Given the description of an element on the screen output the (x, y) to click on. 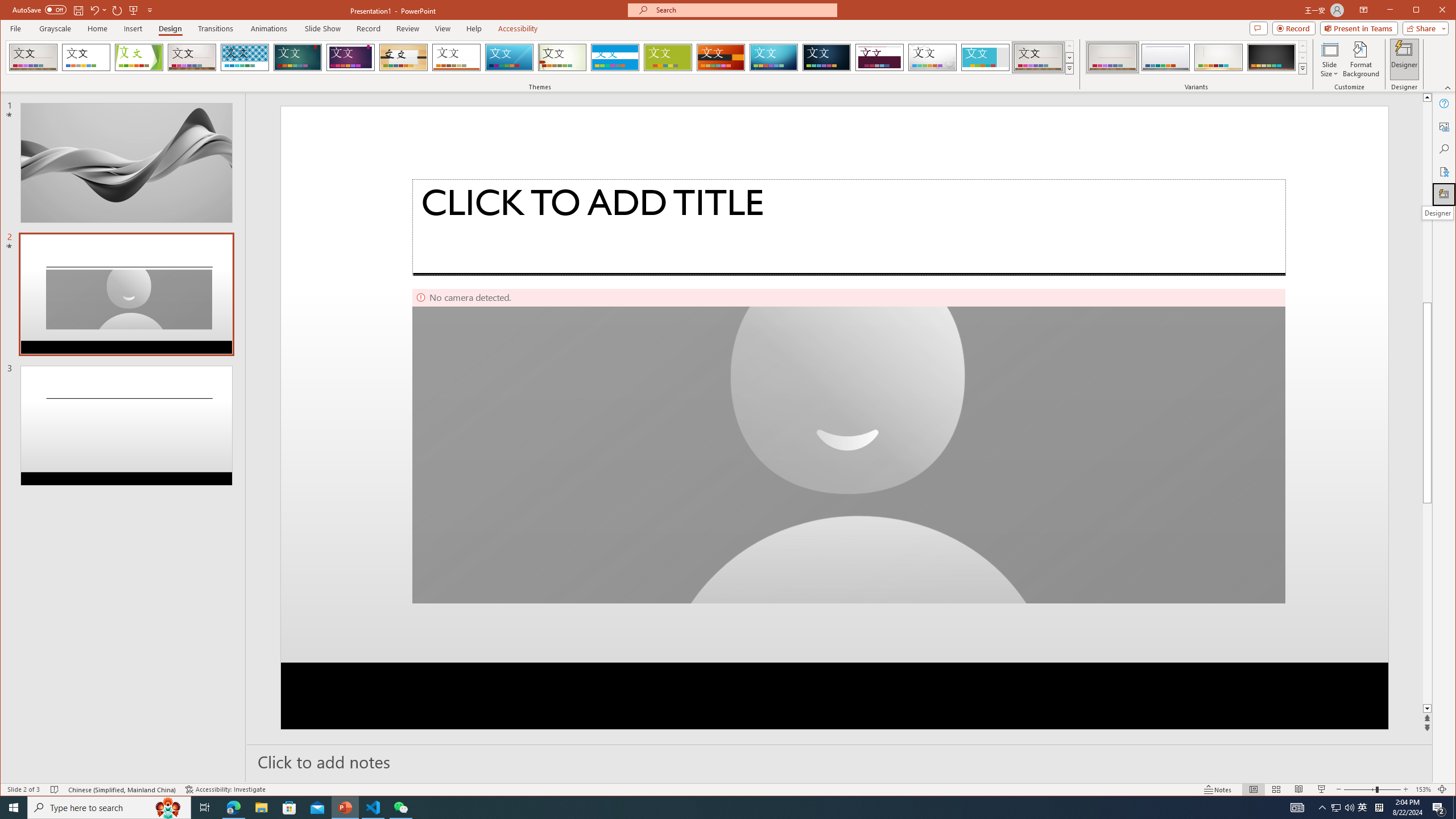
Gallery Variant 1 (1112, 57)
Camera 4, No camera detected. (848, 445)
Action Center, 2 new notifications (1439, 807)
Berlin (720, 57)
Ion (297, 57)
Grayscale (55, 28)
